Given the description of an element on the screen output the (x, y) to click on. 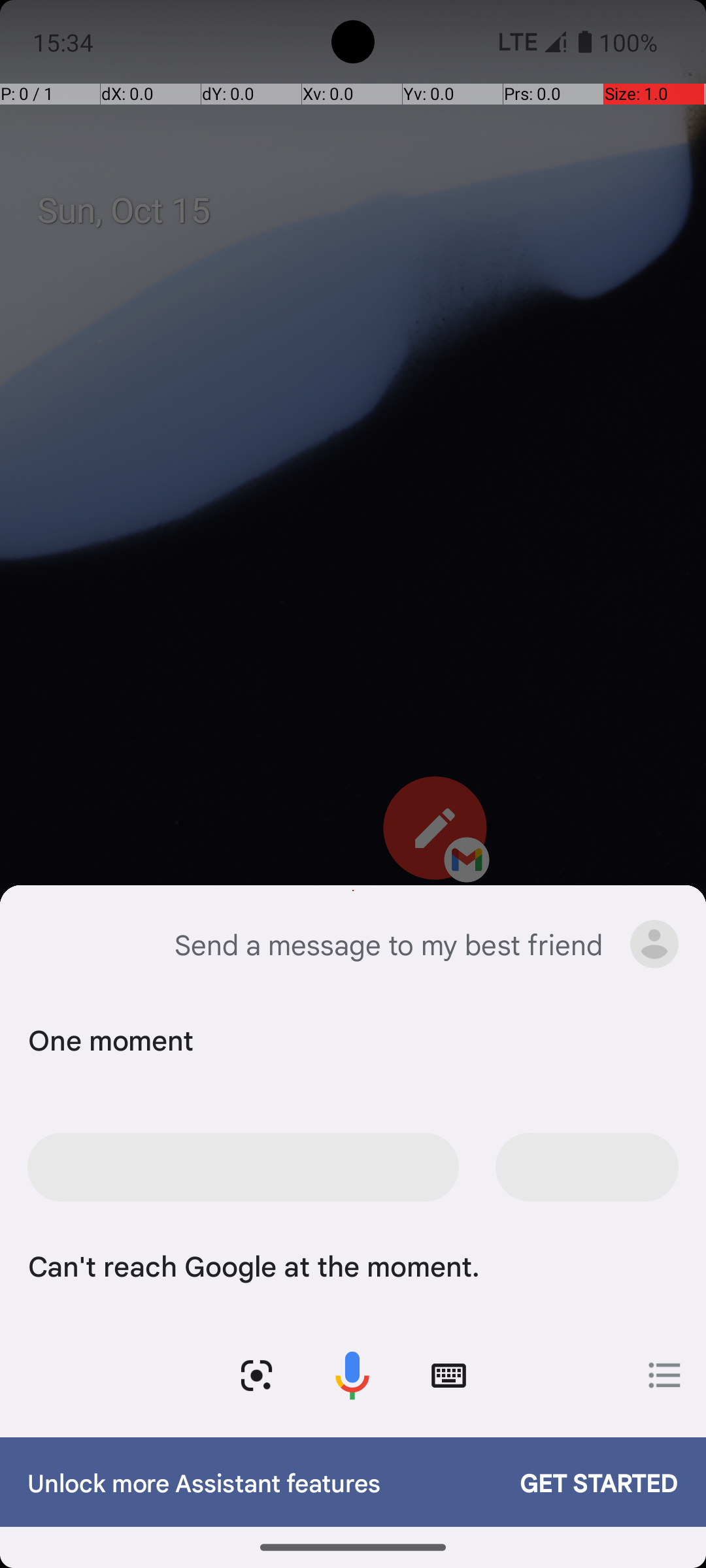
Tap to dismiss Assistant Element type: android.view.ViewGroup (353, 804)
Google Assistant widget. Element type: android.support.v7.widget.RecyclerView (353, 1161)
Voice search button, tap to speak Element type: android.view.View (351, 1375)
Type mode Element type: android.widget.ImageView (448, 1375)
Unlock more Assistant features Element type: android.widget.TextView (259, 1481)
GET STARTED Element type: android.widget.TextView (585, 1481)
Open explore page Element type: android.widget.ImageView (664, 1375)
Google assistant Element type: android.widget.ImageView (48, 943)
Send a message to my best friend Element type: com.google.android.apps.gsa.searchplate.widget.StreamingTextView (387, 943)
Google Assistant menu. Element type: android.widget.ImageView (654, 943)
One moment Element type: android.widget.TextView (349, 1038)
Can't reach Google at the moment. Element type: android.widget.TextView (349, 1264)
